Given the description of an element on the screen output the (x, y) to click on. 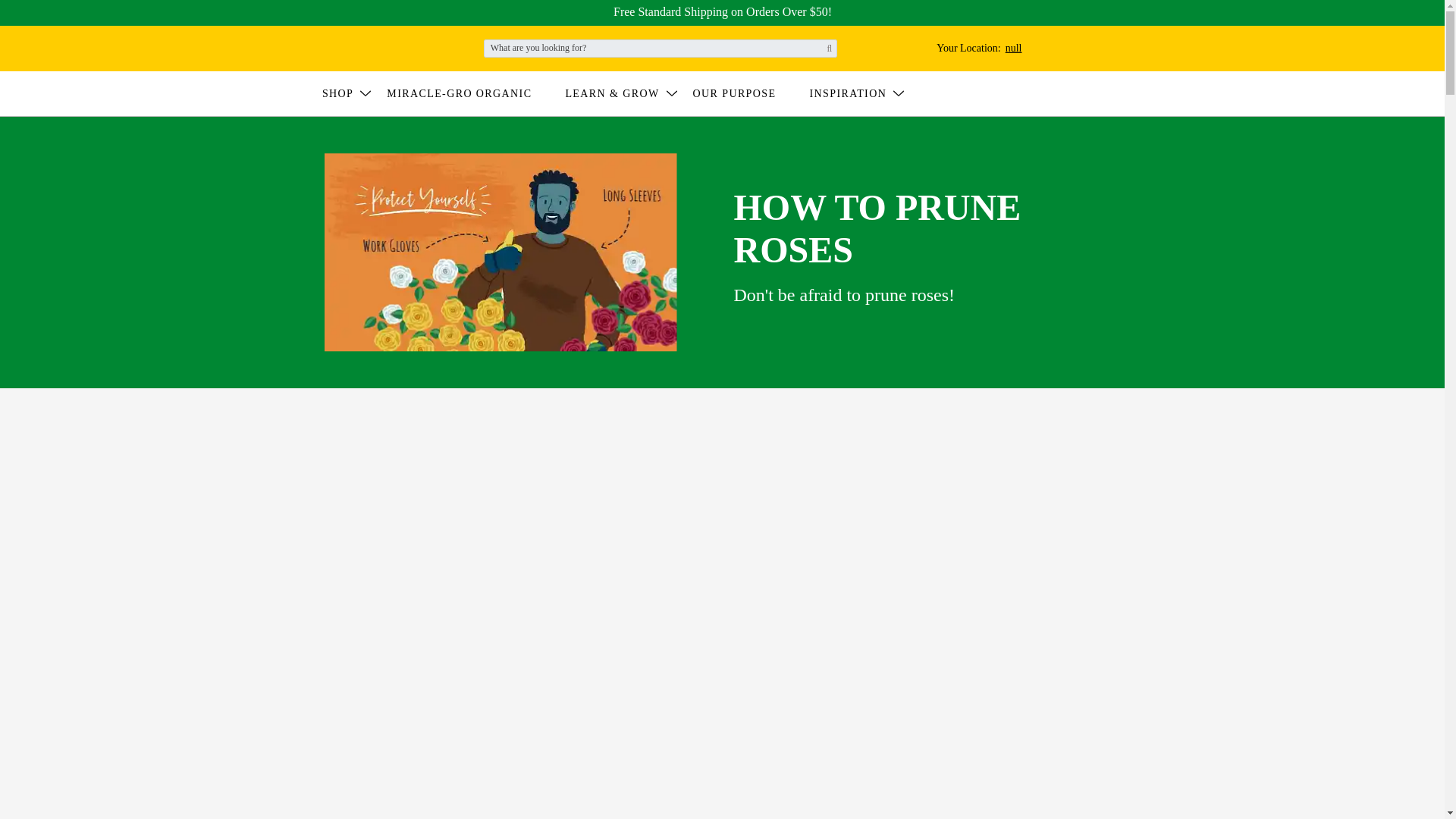
MIRACLE-GRO ORGANIC (469, 93)
Commerce Cloud Storefront Reference Architecture (364, 47)
SHOP (347, 93)
Cart 0 Items (969, 48)
